Given the description of an element on the screen output the (x, y) to click on. 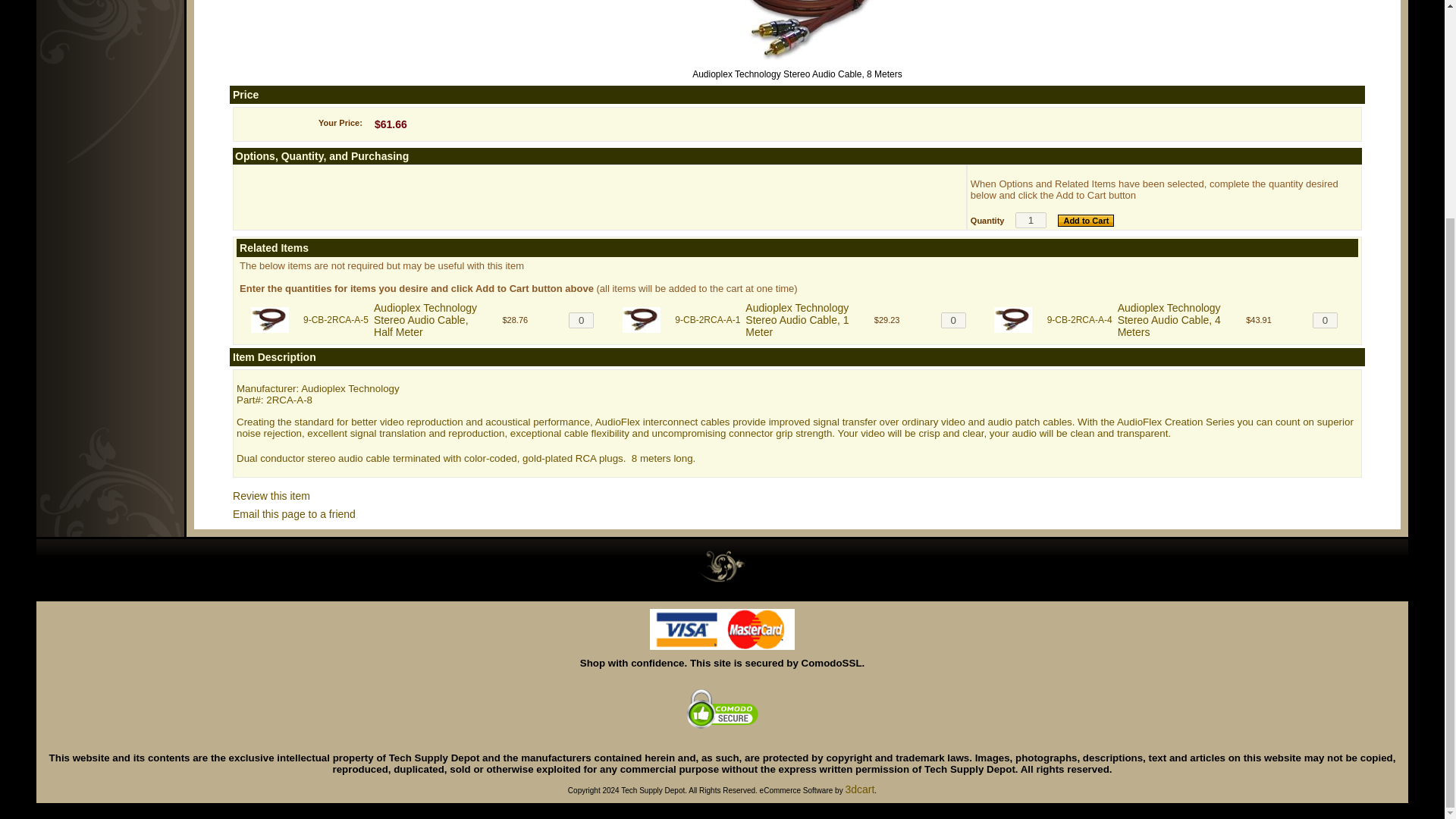
Audioplex Technology Stereo Audio Cable, 4 Meters (1169, 320)
Audioplex Technology Stereo Audio Cable, Half Meter (425, 320)
Add to Cart (1085, 219)
Review this item (271, 495)
3dcart (859, 788)
Email this page to a friend (293, 513)
Audioplex Technology Stereo Audio Cable, 1 Meter (796, 320)
0 (1325, 320)
0 (953, 320)
0 (581, 320)
1 (1030, 220)
